Given the description of an element on the screen output the (x, y) to click on. 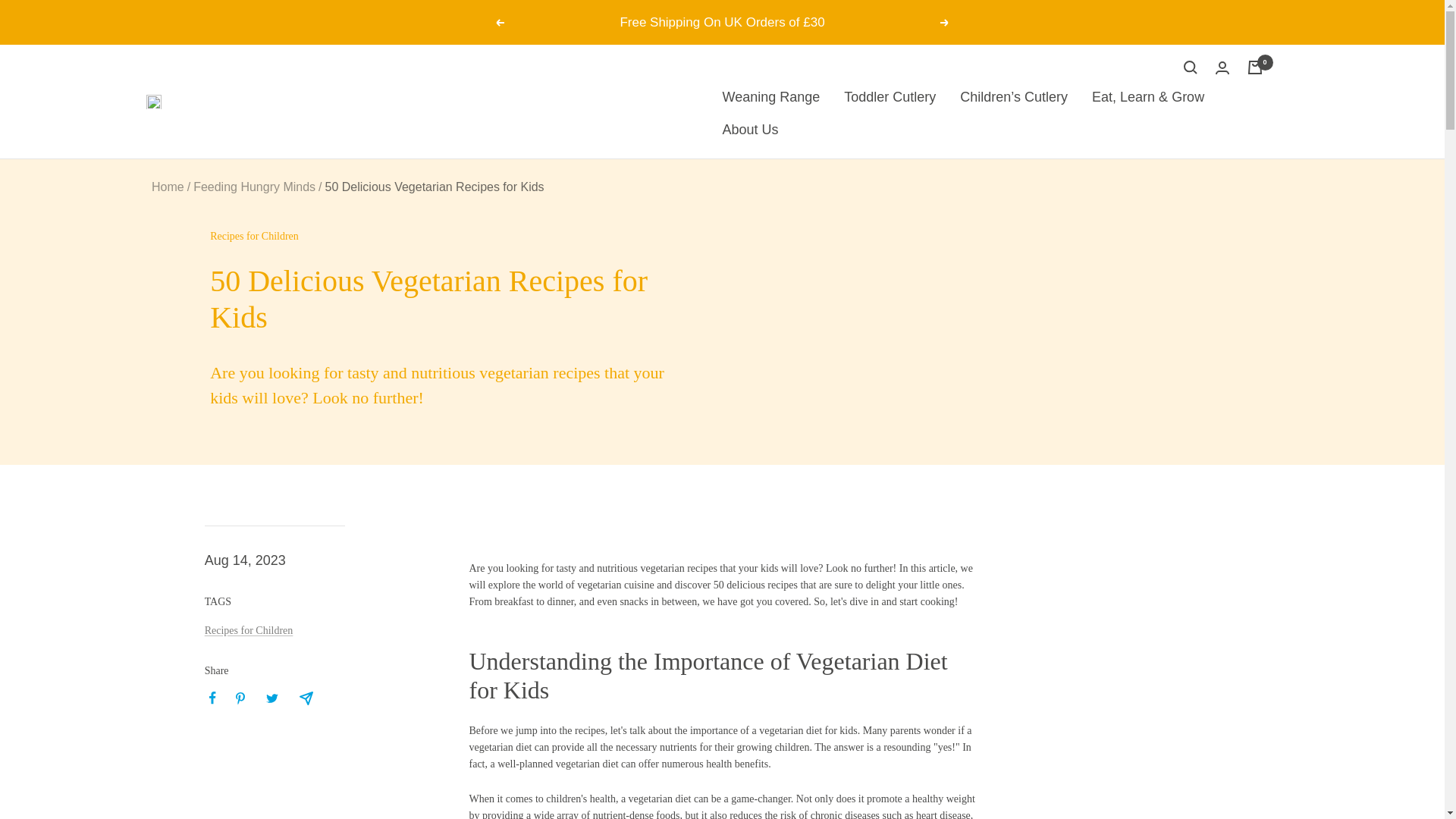
About Us (749, 129)
Recipes for Children (438, 228)
Weaning Range (770, 96)
Toddler Cutlery (890, 96)
Nanas Manners (152, 101)
Recipes for Children (249, 630)
Home (167, 186)
Feeding Hungry Minds (254, 186)
Previous (499, 22)
0 (1254, 67)
